Given the description of an element on the screen output the (x, y) to click on. 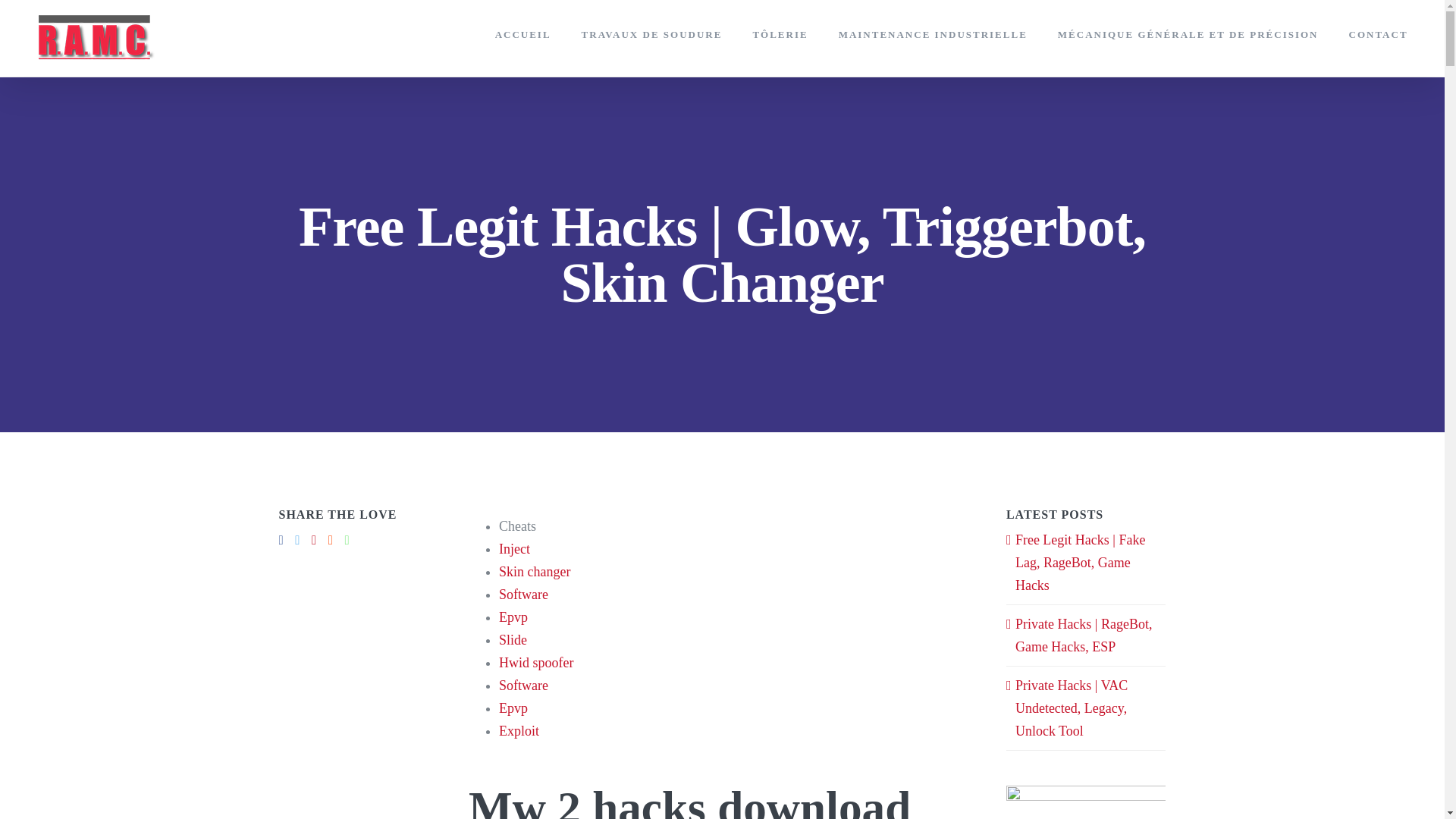
Hwid spoofer (536, 662)
MAINTENANCE INDUSTRIELLE (932, 33)
Slide (513, 639)
Epvp (513, 708)
Epvp (513, 616)
Exploit (518, 730)
TRAVAUX DE SOUDURE (651, 33)
Software (523, 594)
Software (523, 685)
Inject (514, 548)
Skin changer (534, 571)
